Given the description of an element on the screen output the (x, y) to click on. 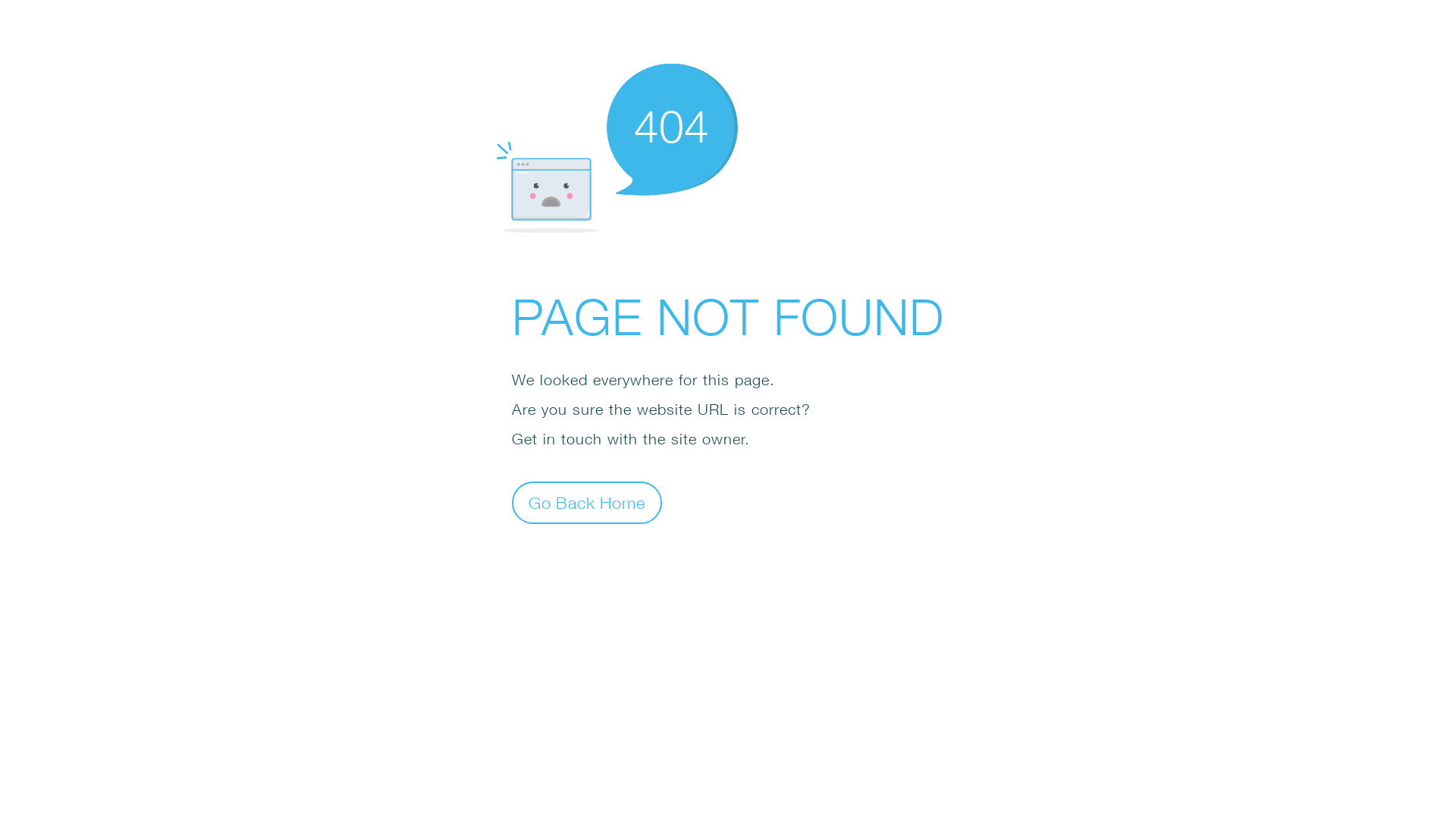
Go Back Home Element type: text (586, 502)
